Given the description of an element on the screen output the (x, y) to click on. 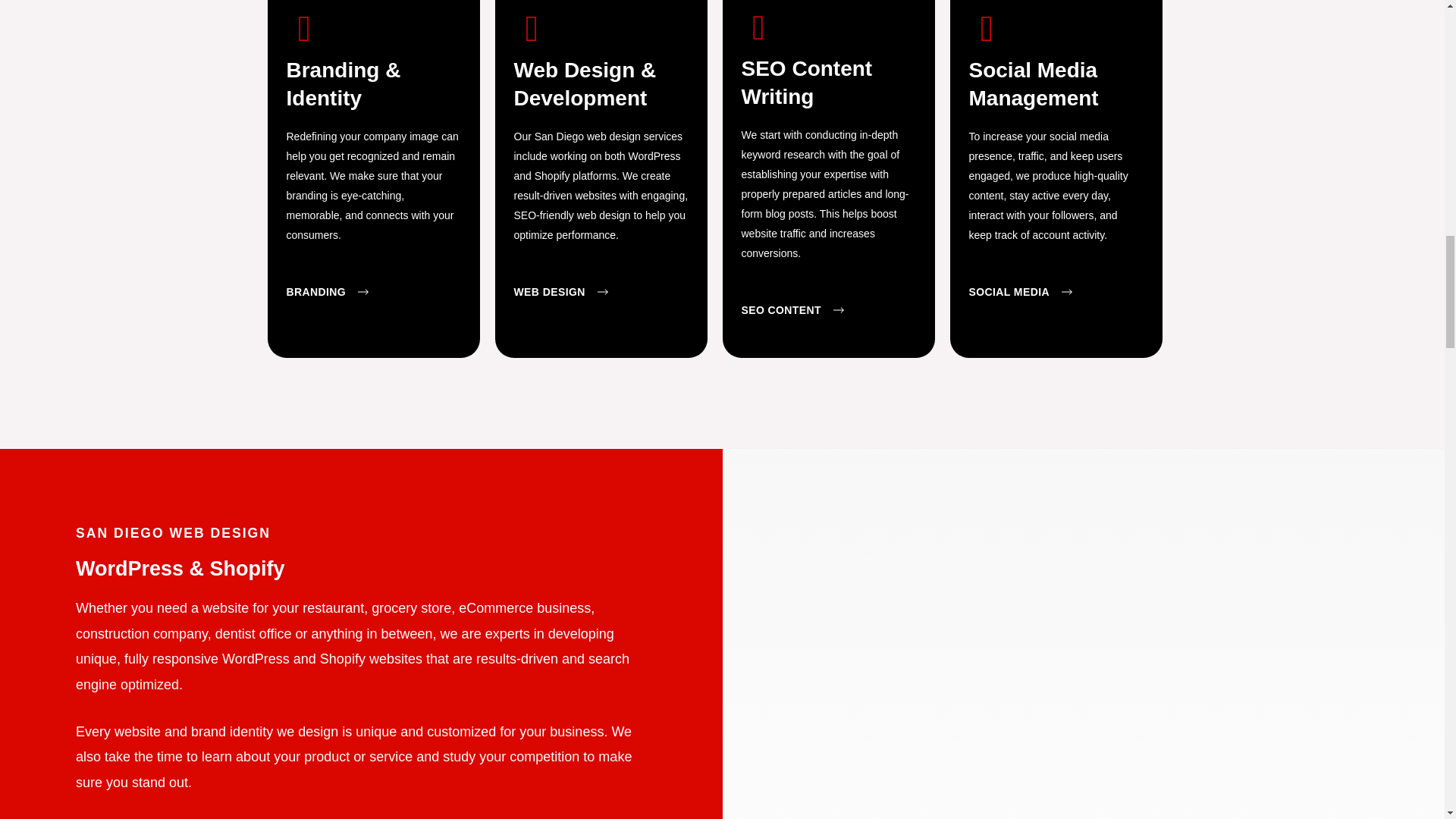
SEO CONTENT (792, 310)
WEB DESIGN (560, 292)
SOCIAL MEDIA (1020, 292)
BRANDING (327, 292)
